Given the description of an element on the screen output the (x, y) to click on. 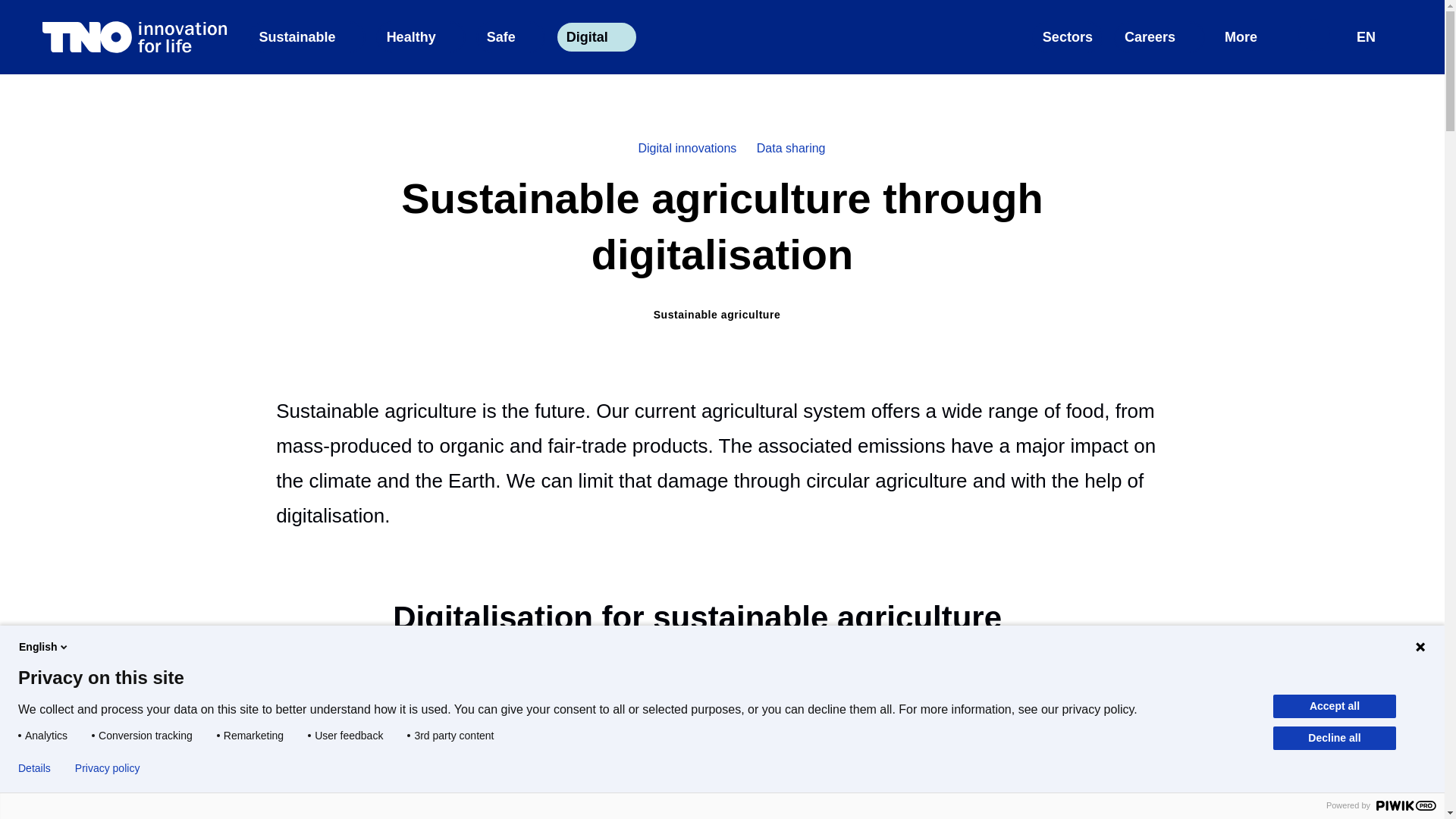
English (1373, 36)
Careers (1159, 37)
Sustainable (306, 37)
Sectors (1067, 37)
Skip to the content (722, 8)
Digital (596, 37)
More (1248, 36)
Healthy (420, 37)
Safe (510, 37)
Piwik PRO (1405, 805)
Data sharing (791, 148)
Digital innovations (1373, 37)
